Given the description of an element on the screen output the (x, y) to click on. 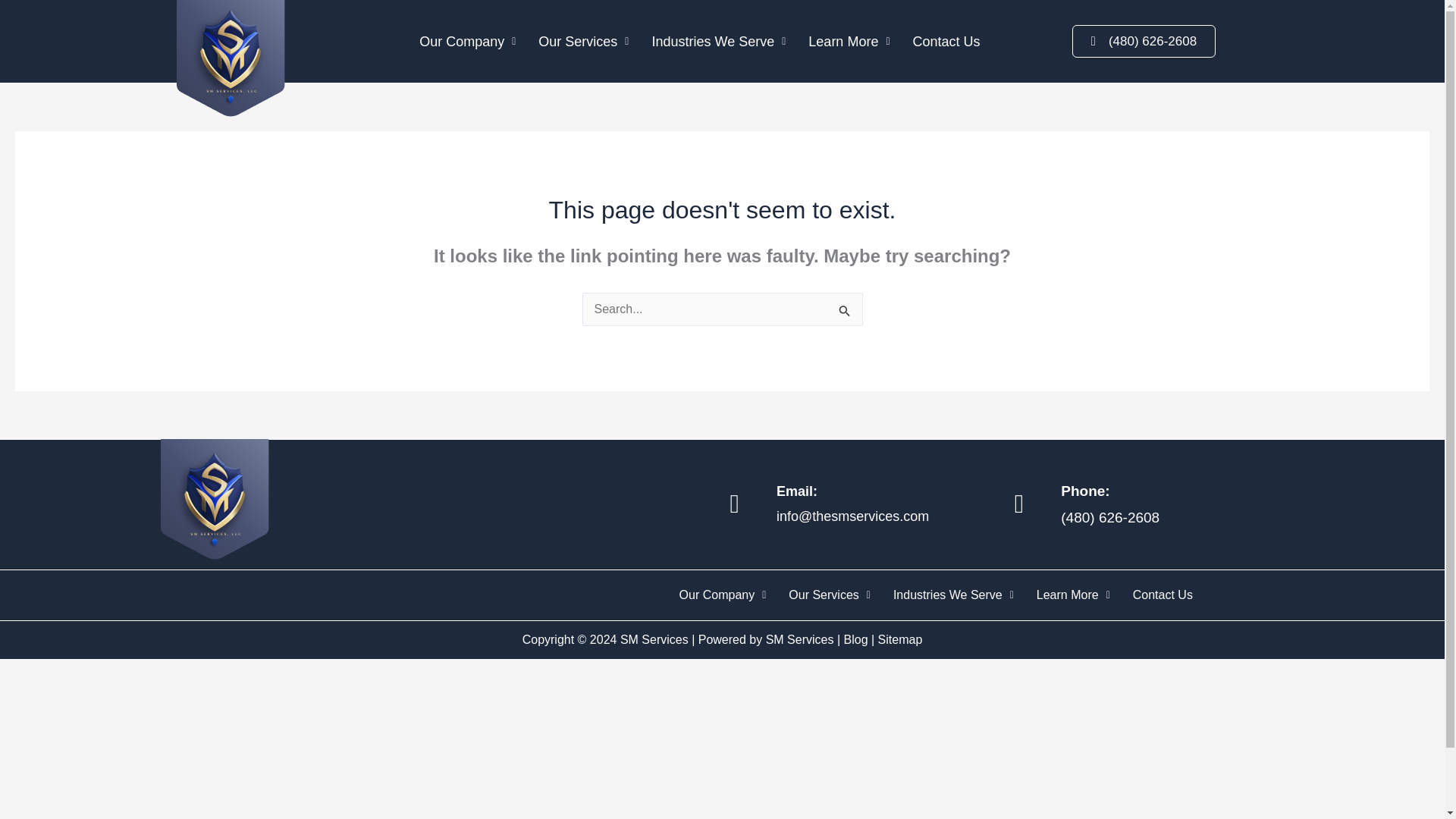
Industries We Serve (718, 40)
Learn More (848, 40)
Contact Us (946, 40)
Our Services (583, 40)
Our Company (467, 40)
